Given the description of an element on the screen output the (x, y) to click on. 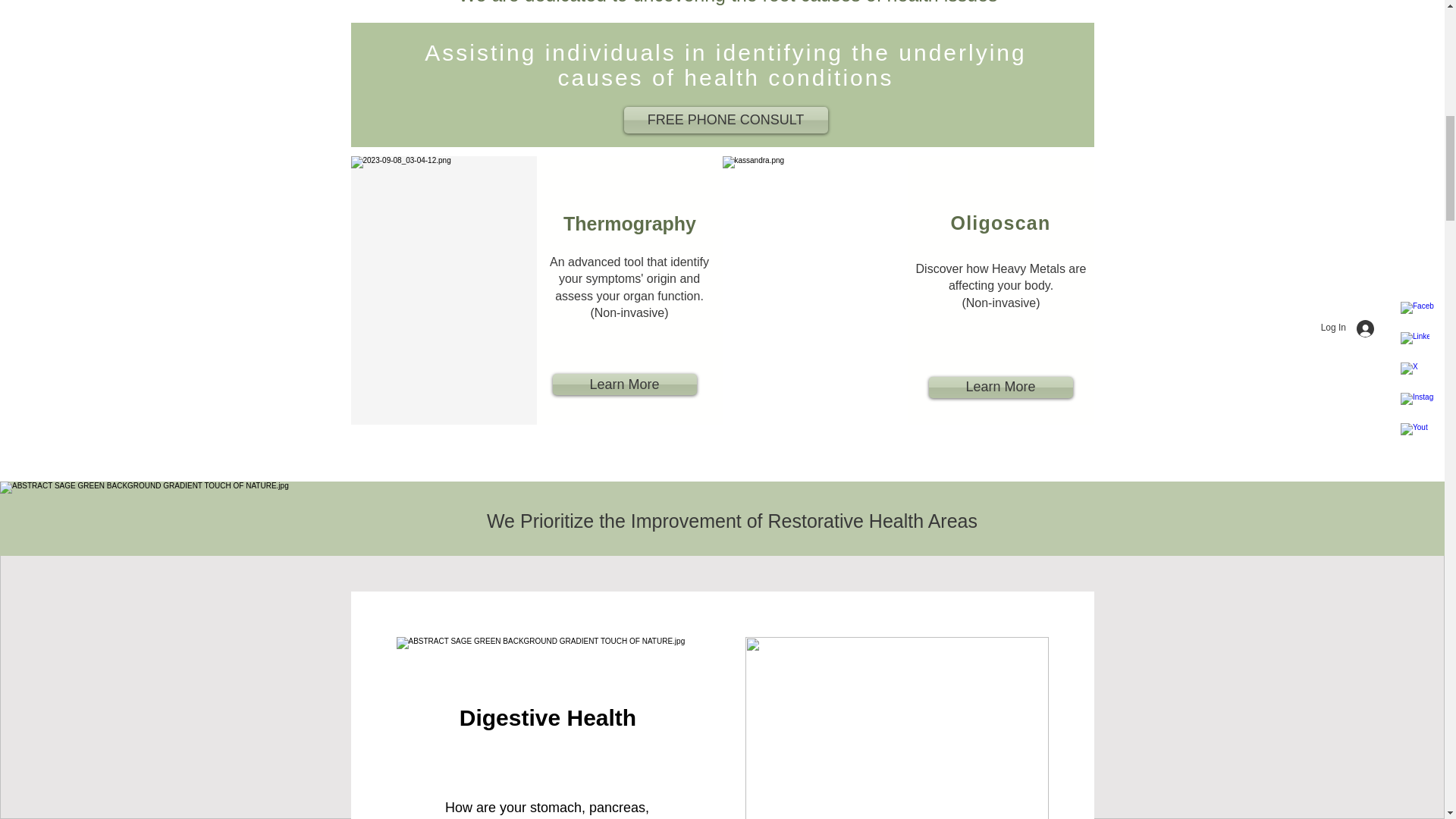
Learn More (999, 387)
FREE PHONE CONSULT (725, 120)
Learn More (623, 383)
